Given the description of an element on the screen output the (x, y) to click on. 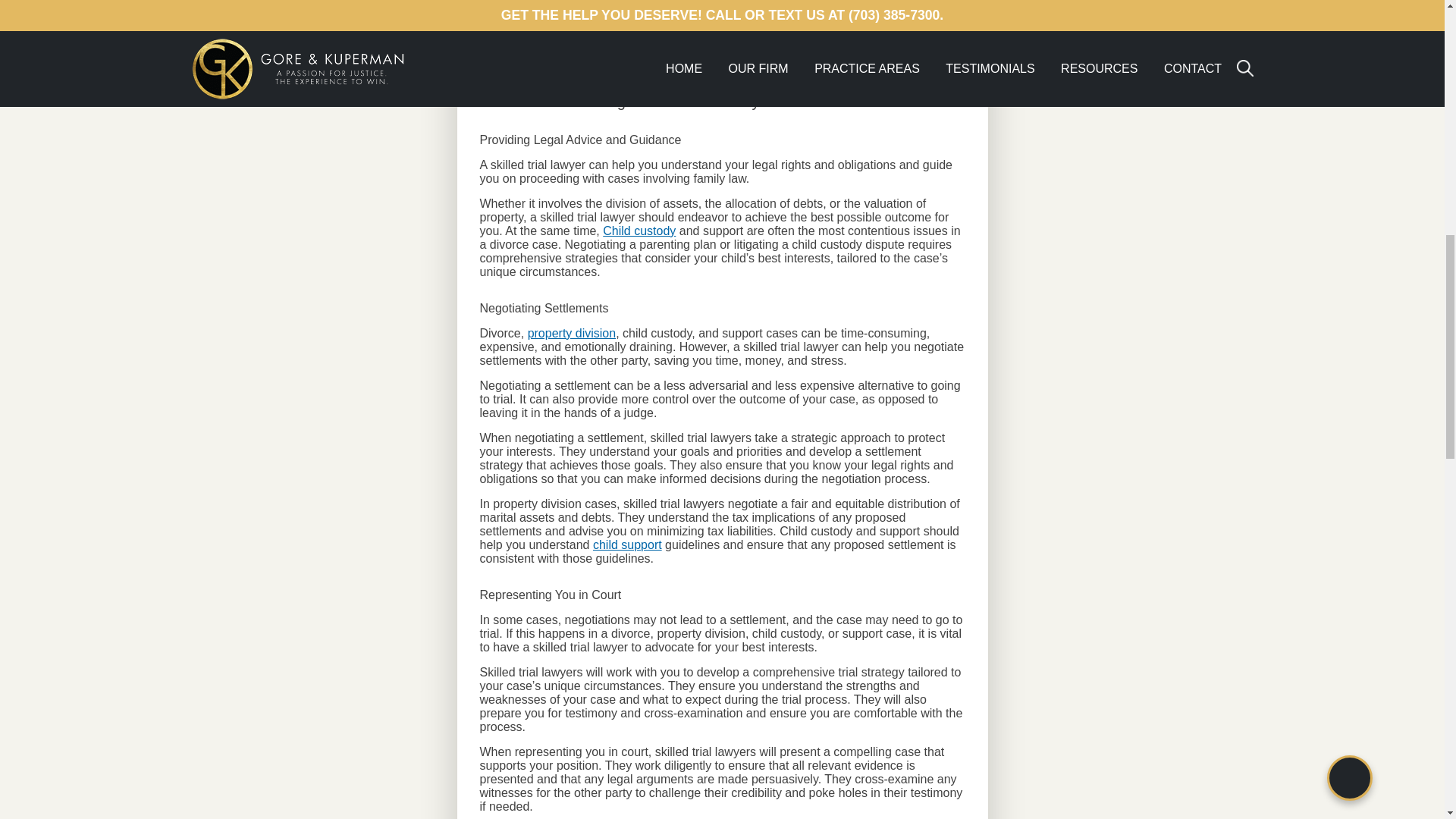
Child custody (638, 230)
Child custody (638, 230)
child support (627, 544)
property division (571, 332)
